Given the description of an element on the screen output the (x, y) to click on. 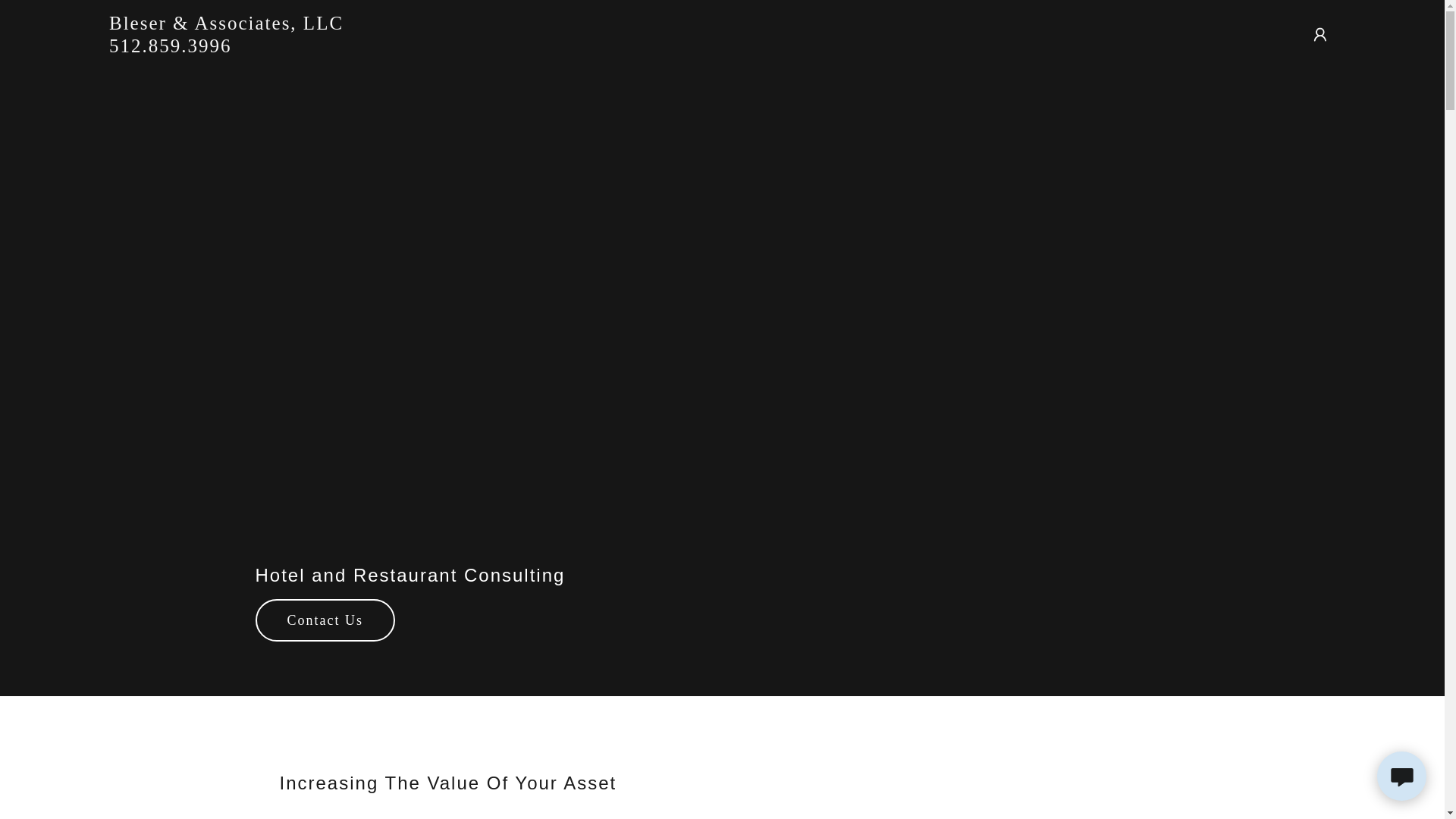
Contact Us (324, 619)
